Given the description of an element on the screen output the (x, y) to click on. 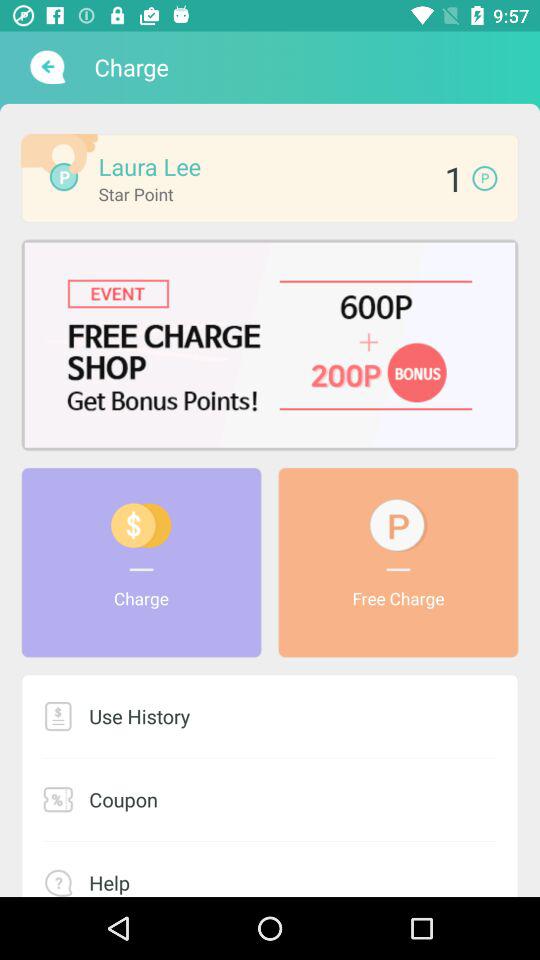
go to previous (45, 67)
